Given the description of an element on the screen output the (x, y) to click on. 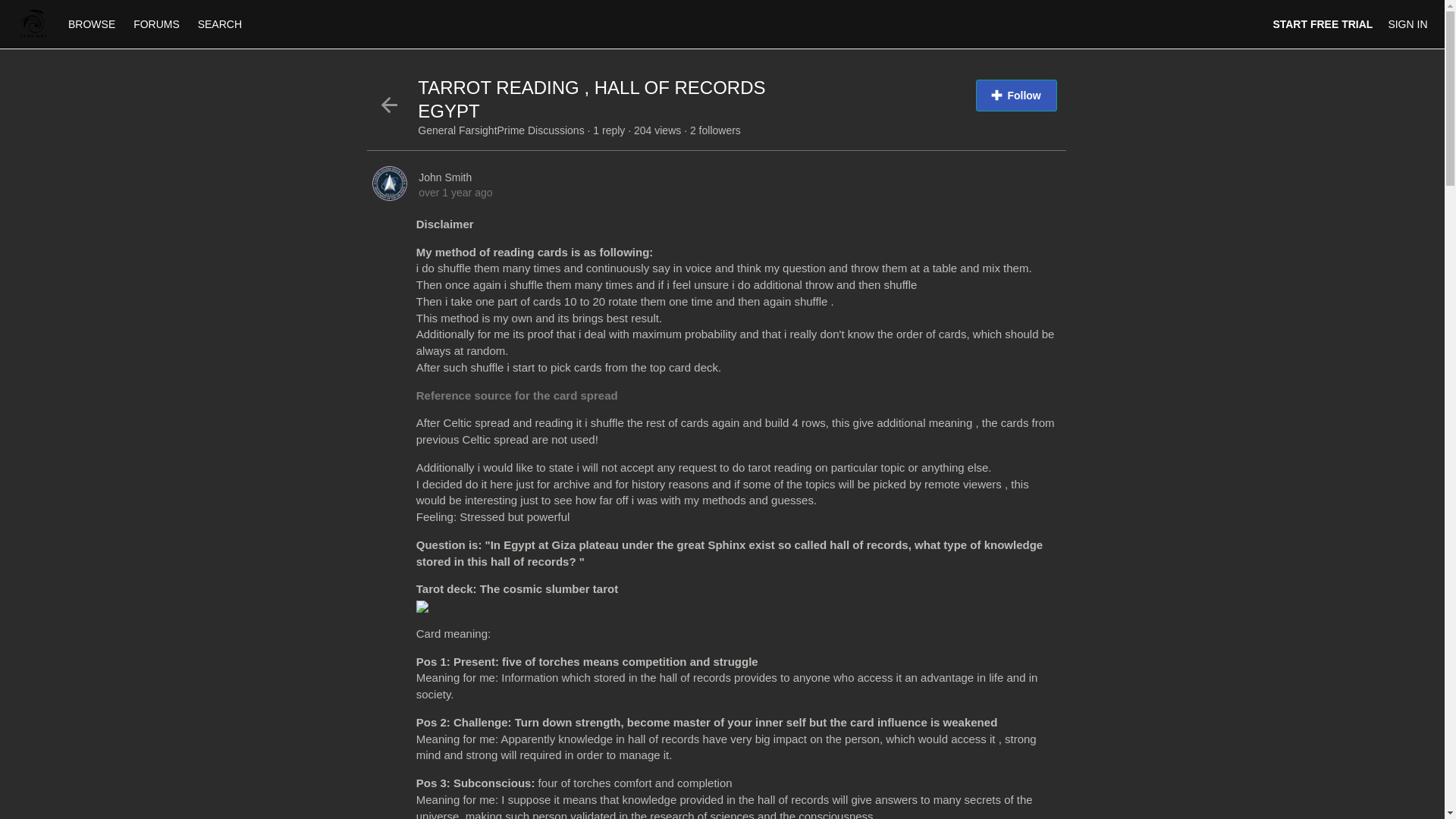
over 1 year ago (455, 192)
SIGN IN (1406, 24)
FORUMS (157, 24)
Reference source for the card spread (516, 395)
Skip to main content (48, 7)
START FREE TRIAL (1322, 24)
BROWSE (93, 24)
SEARCH (219, 24)
General FarsightPrime Discussions (501, 130)
Follow (1016, 95)
